Given the description of an element on the screen output the (x, y) to click on. 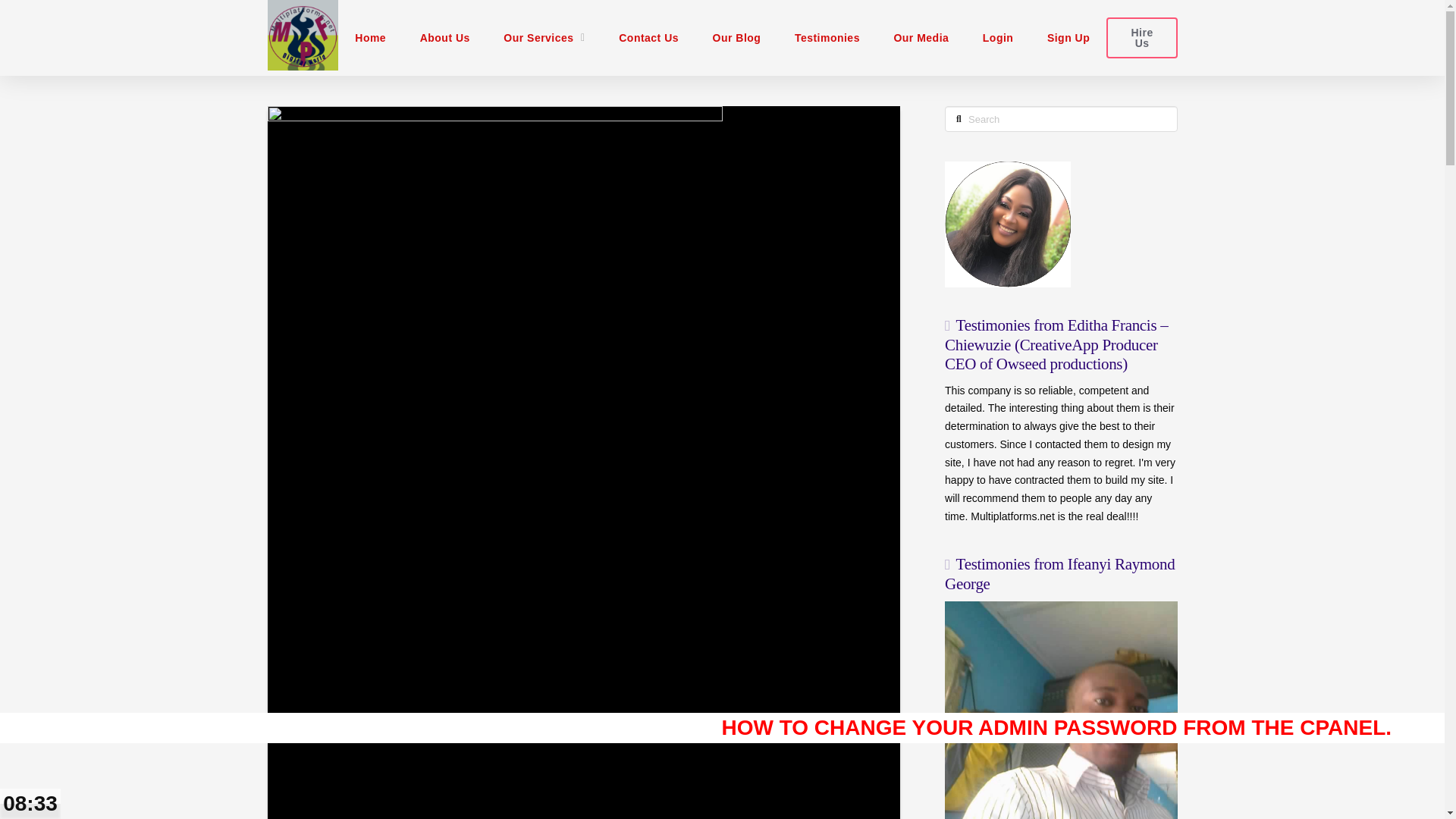
Our Media (920, 38)
Contact Us (648, 38)
Home (370, 38)
Hire Us (1141, 37)
Sign Up (1067, 38)
About Us (444, 38)
Our Blog (736, 38)
Testimonies (826, 38)
Our Services (544, 38)
Login (997, 38)
